Given the description of an element on the screen output the (x, y) to click on. 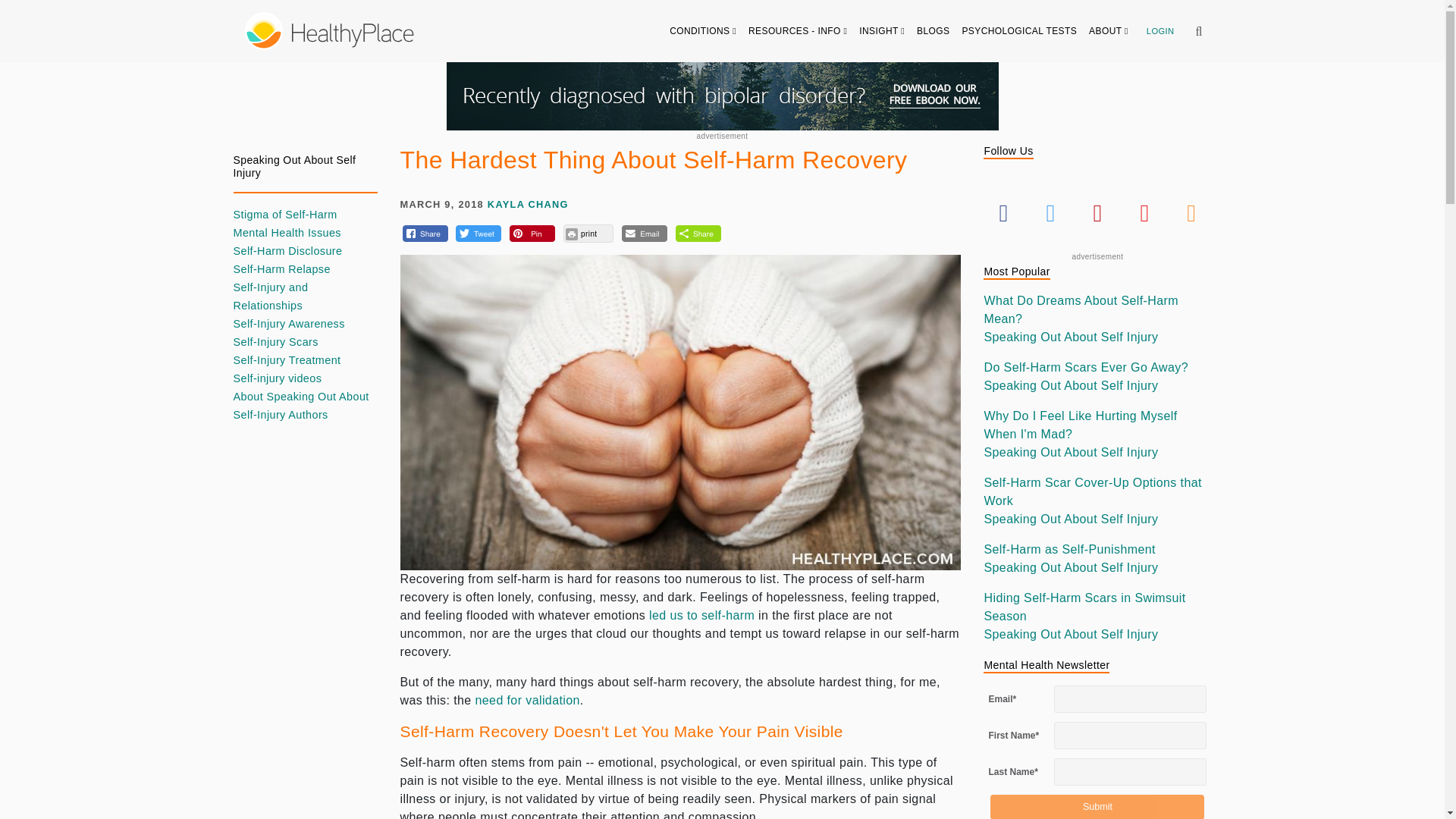
RESOURCES - INFO (797, 31)
CONDITIONS (702, 31)
INSIGHT (882, 31)
Get our free bipolar eBook. Click to download. (721, 96)
Submit (1097, 806)
